Given the description of an element on the screen output the (x, y) to click on. 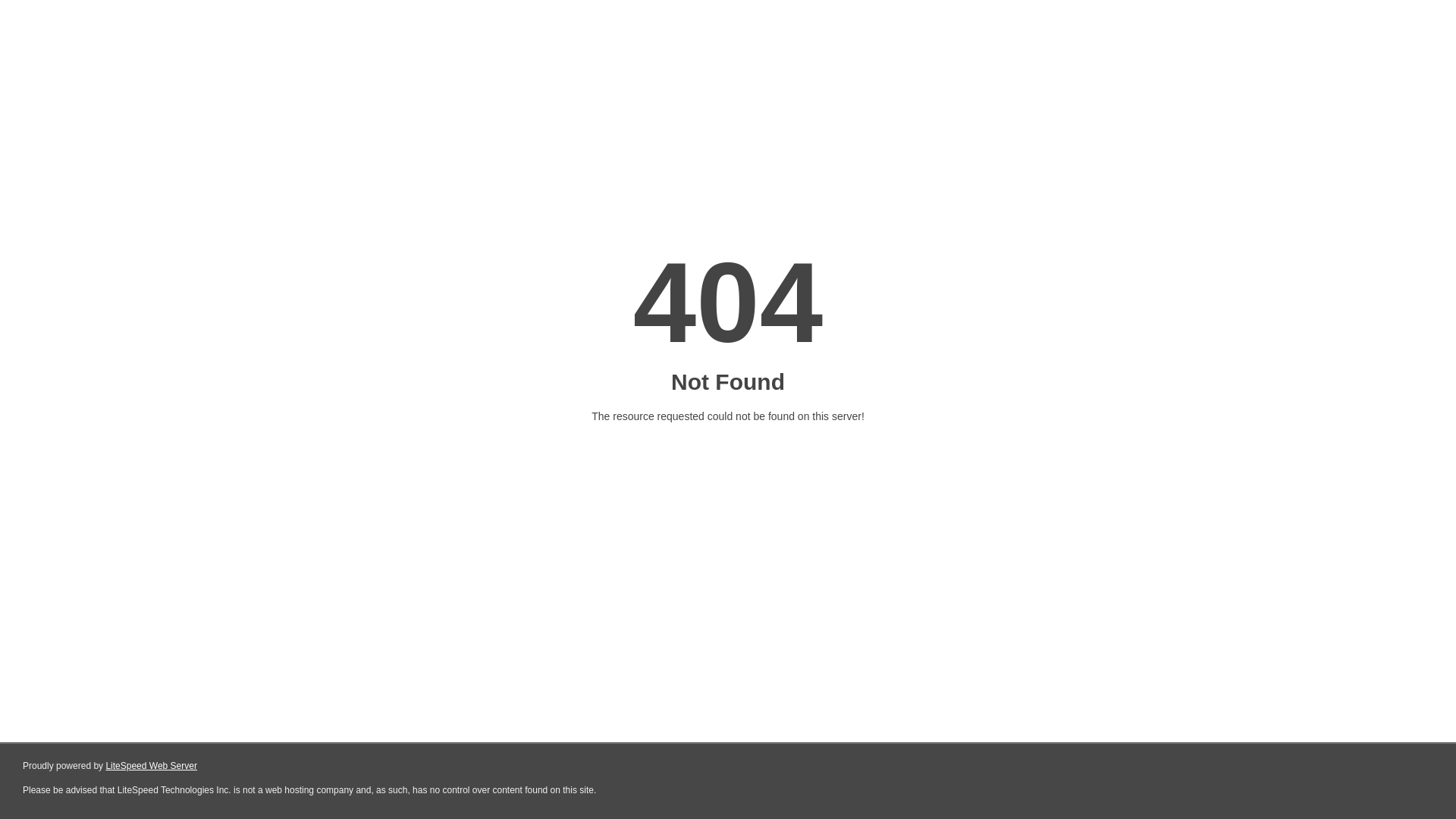
LiteSpeed Web Server Element type: text (151, 765)
